Given the description of an element on the screen output the (x, y) to click on. 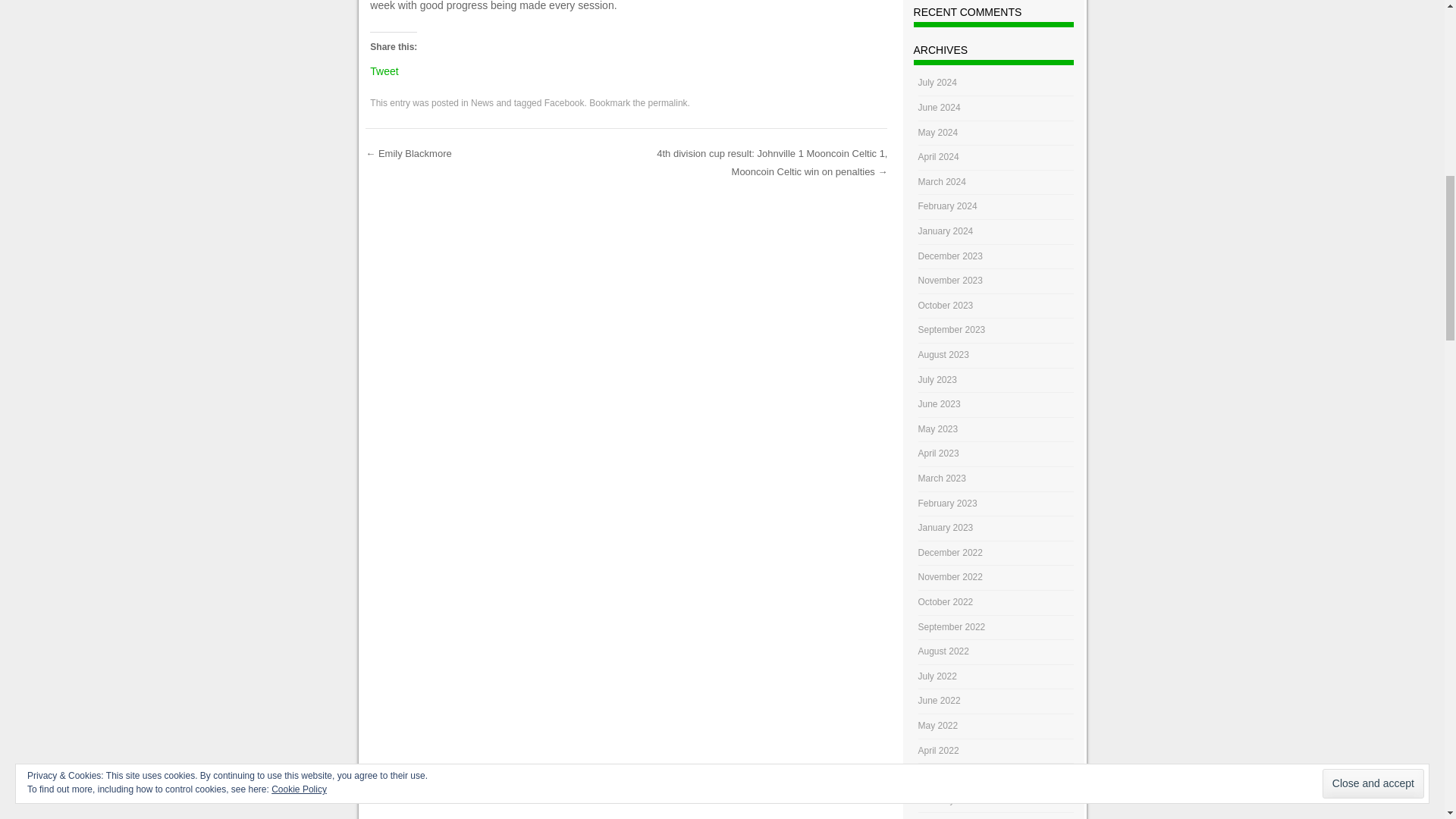
March 2024 (942, 181)
Permalink to Academy activities (667, 102)
Facebook (564, 102)
May 2024 (938, 132)
July 2024 (937, 81)
permalink (667, 102)
News (481, 102)
June 2024 (939, 107)
April 2024 (938, 156)
Tweet (383, 68)
